Given the description of an element on the screen output the (x, y) to click on. 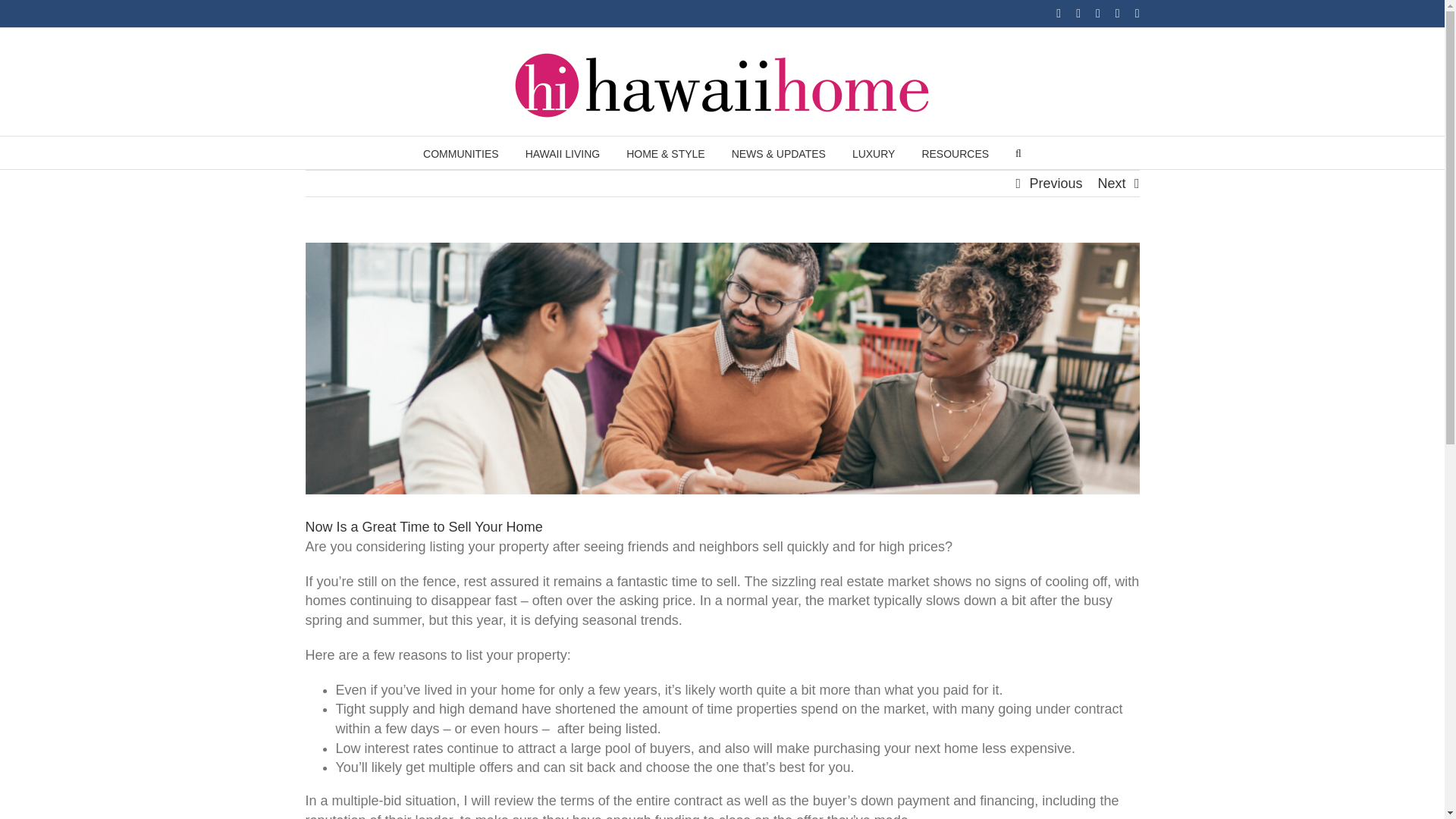
RESOURCES (954, 152)
COMMUNITIES (461, 152)
LUXURY (873, 152)
HAWAII LIVING (562, 152)
